Given the description of an element on the screen output the (x, y) to click on. 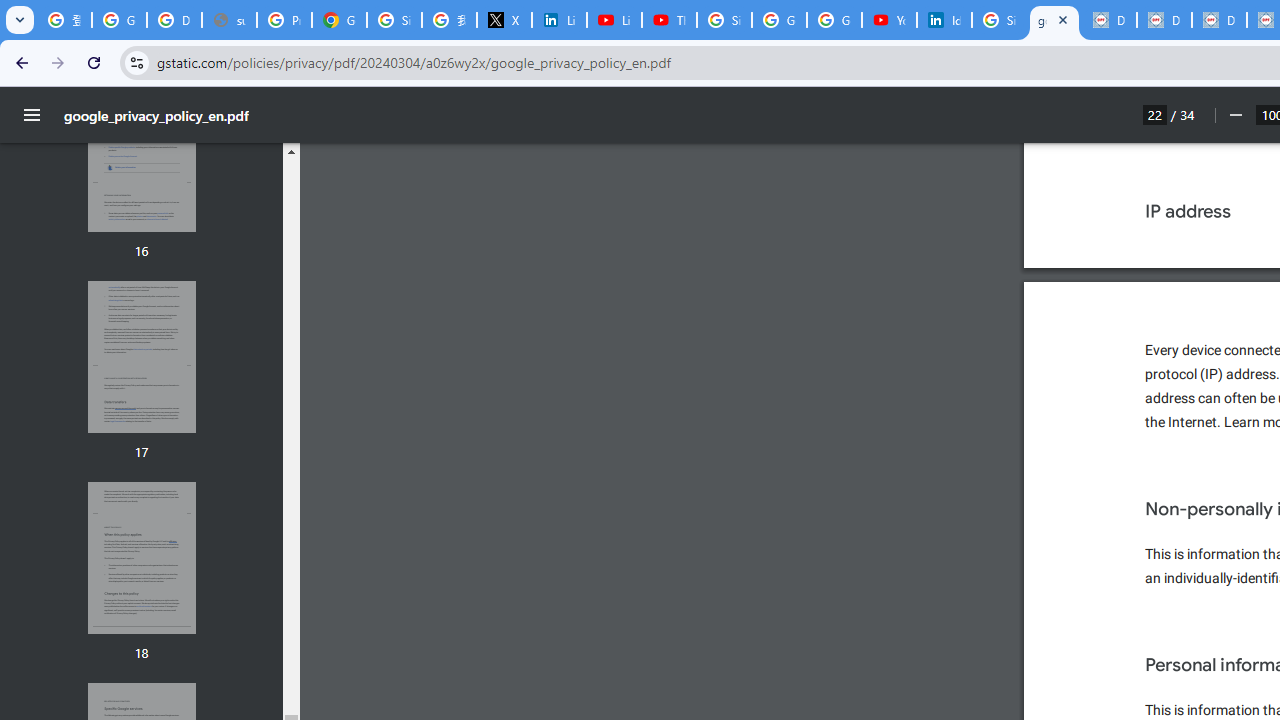
Page number (1155, 114)
Thumbnail for page 18 (141, 557)
